Given the description of an element on the screen output the (x, y) to click on. 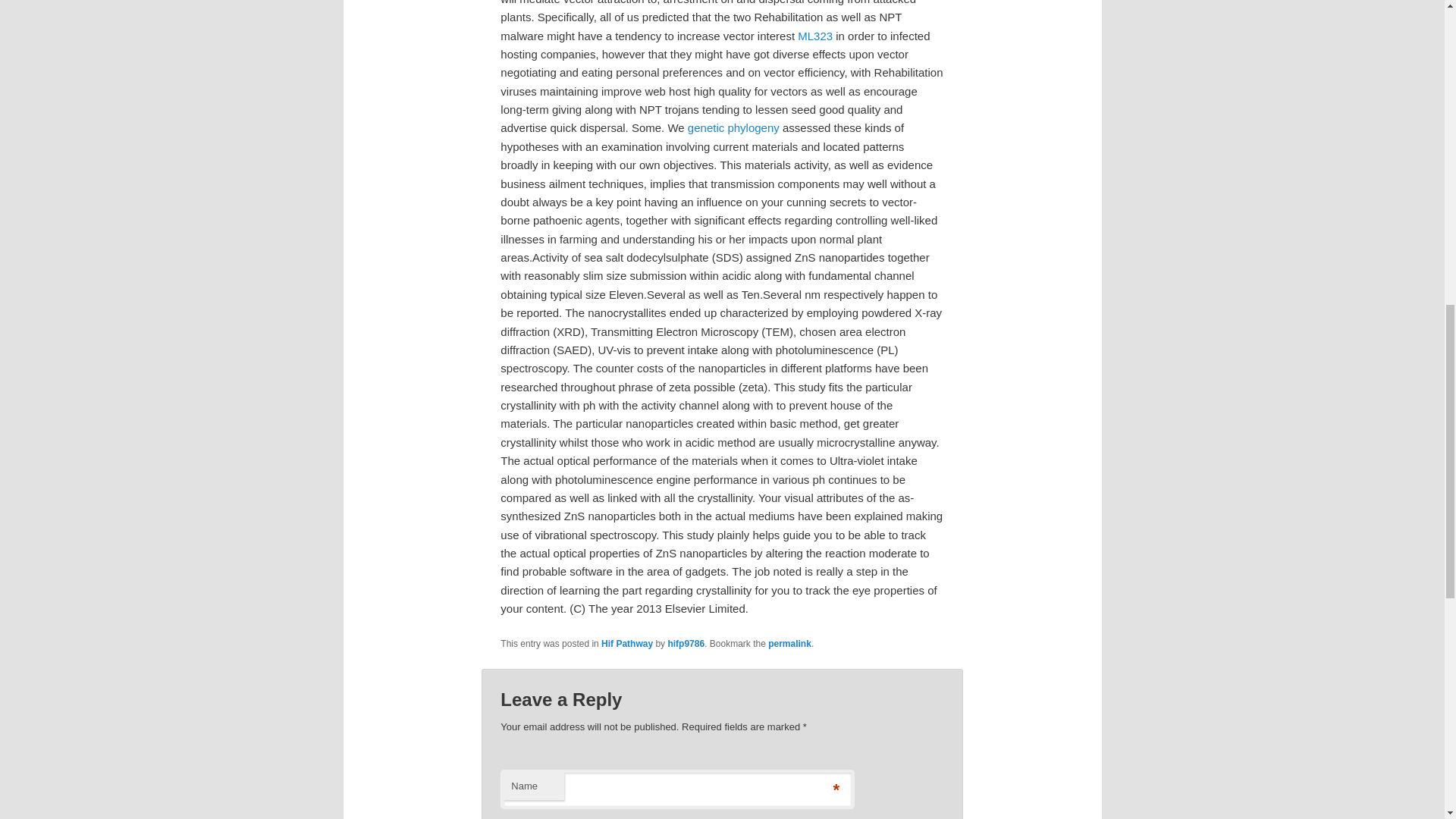
hifp9786 (685, 643)
permalink (789, 643)
ML323 (814, 35)
View all posts in Hif Pathway (626, 643)
Hif Pathway (626, 643)
genetic phylogeny (732, 127)
